Given the description of an element on the screen output the (x, y) to click on. 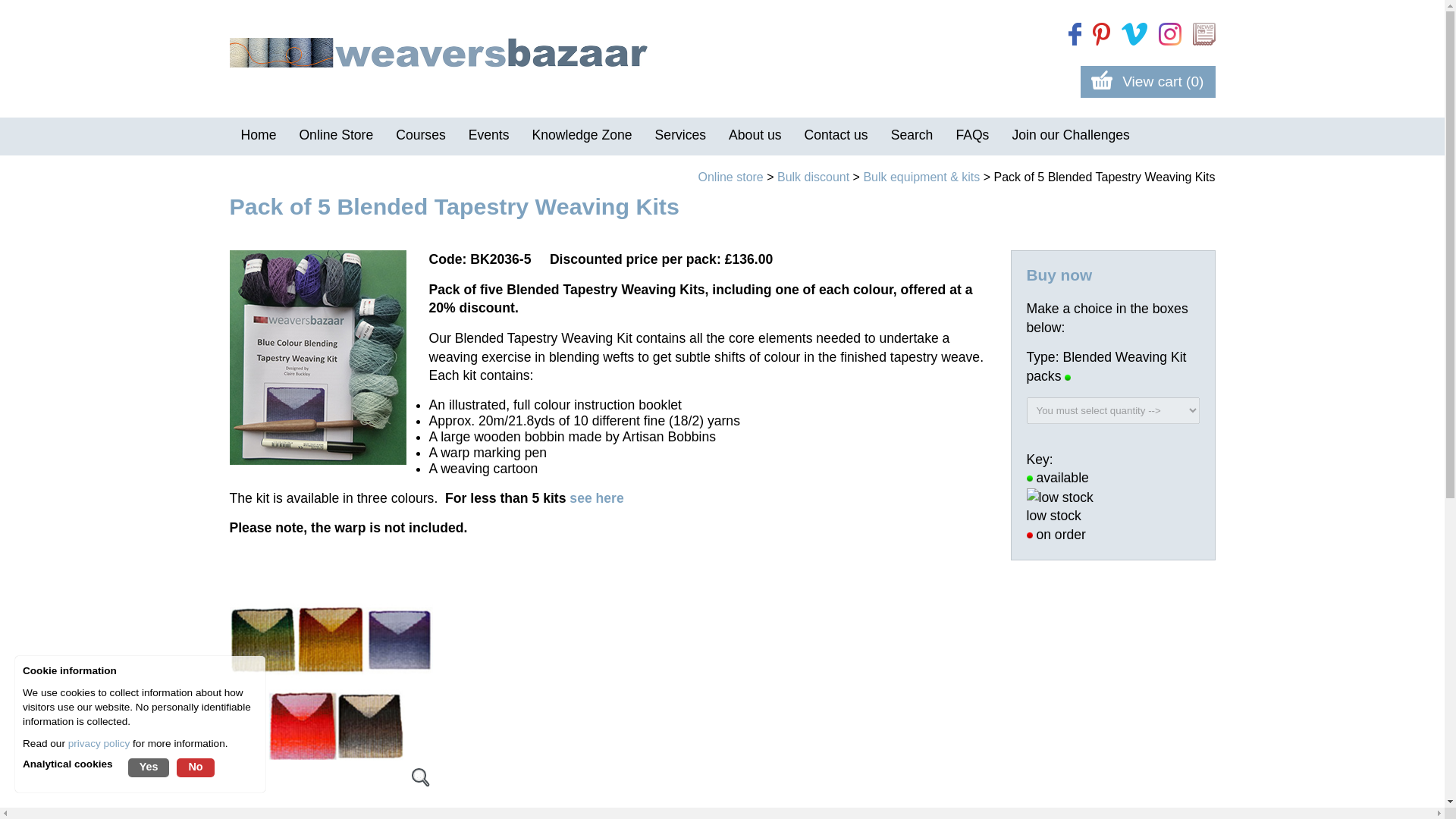
Home (257, 136)
Online Store (335, 136)
Home (257, 136)
